Given the description of an element on the screen output the (x, y) to click on. 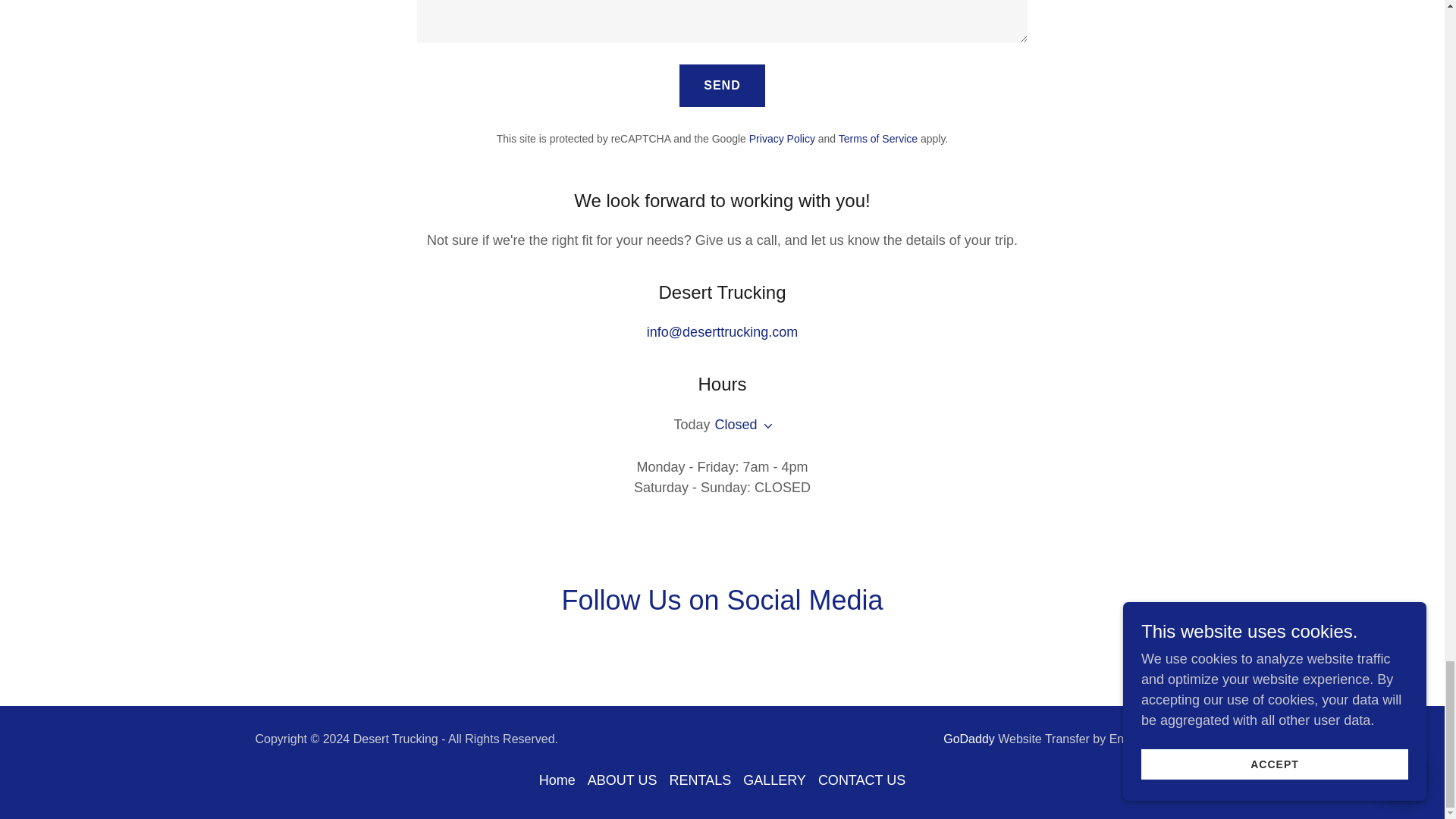
SEND (721, 84)
Terms of Service (877, 137)
Privacy Policy (782, 137)
GoDaddy (968, 738)
